Given the description of an element on the screen output the (x, y) to click on. 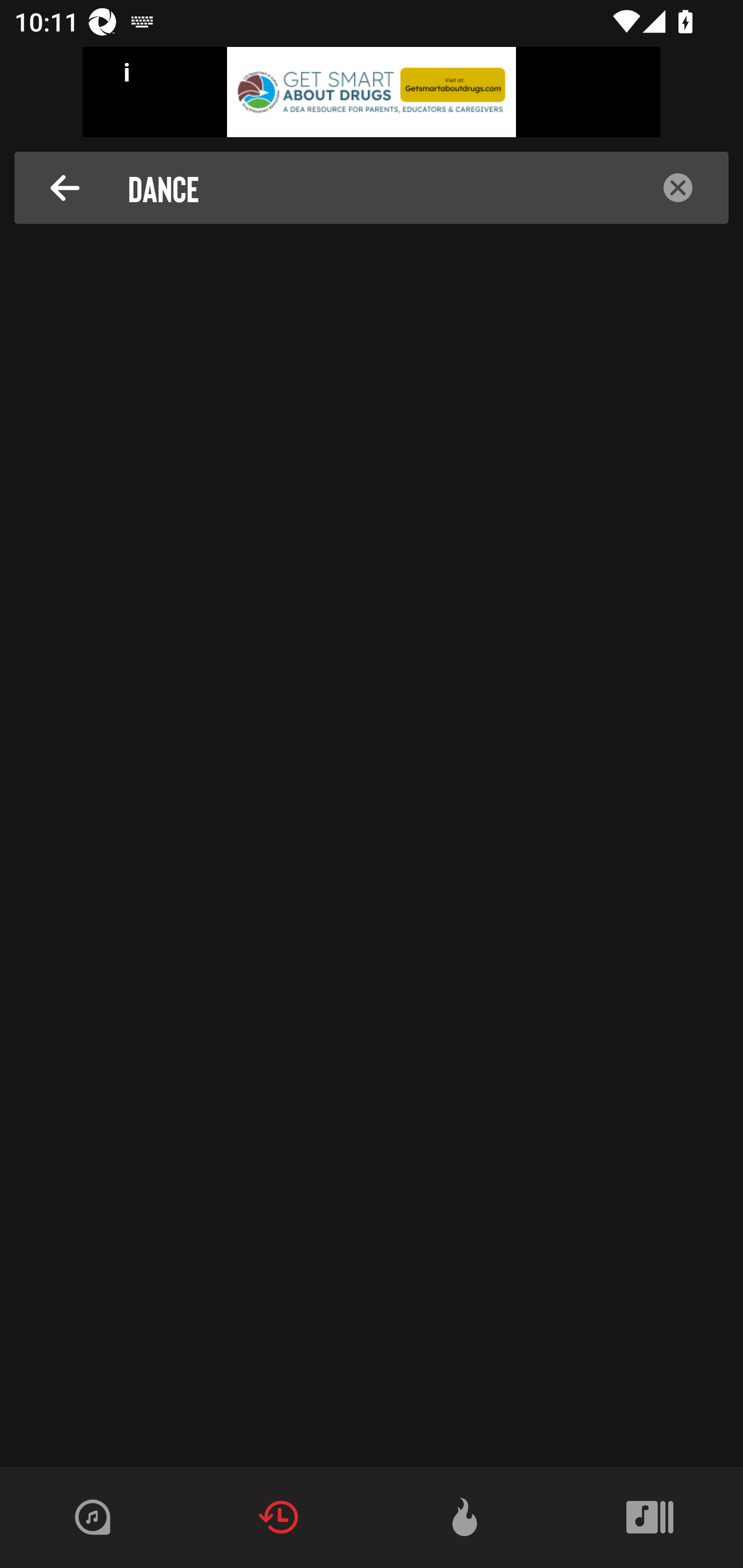
Dance (377, 188)
Description (64, 188)
Description (677, 188)
